Given the description of an element on the screen output the (x, y) to click on. 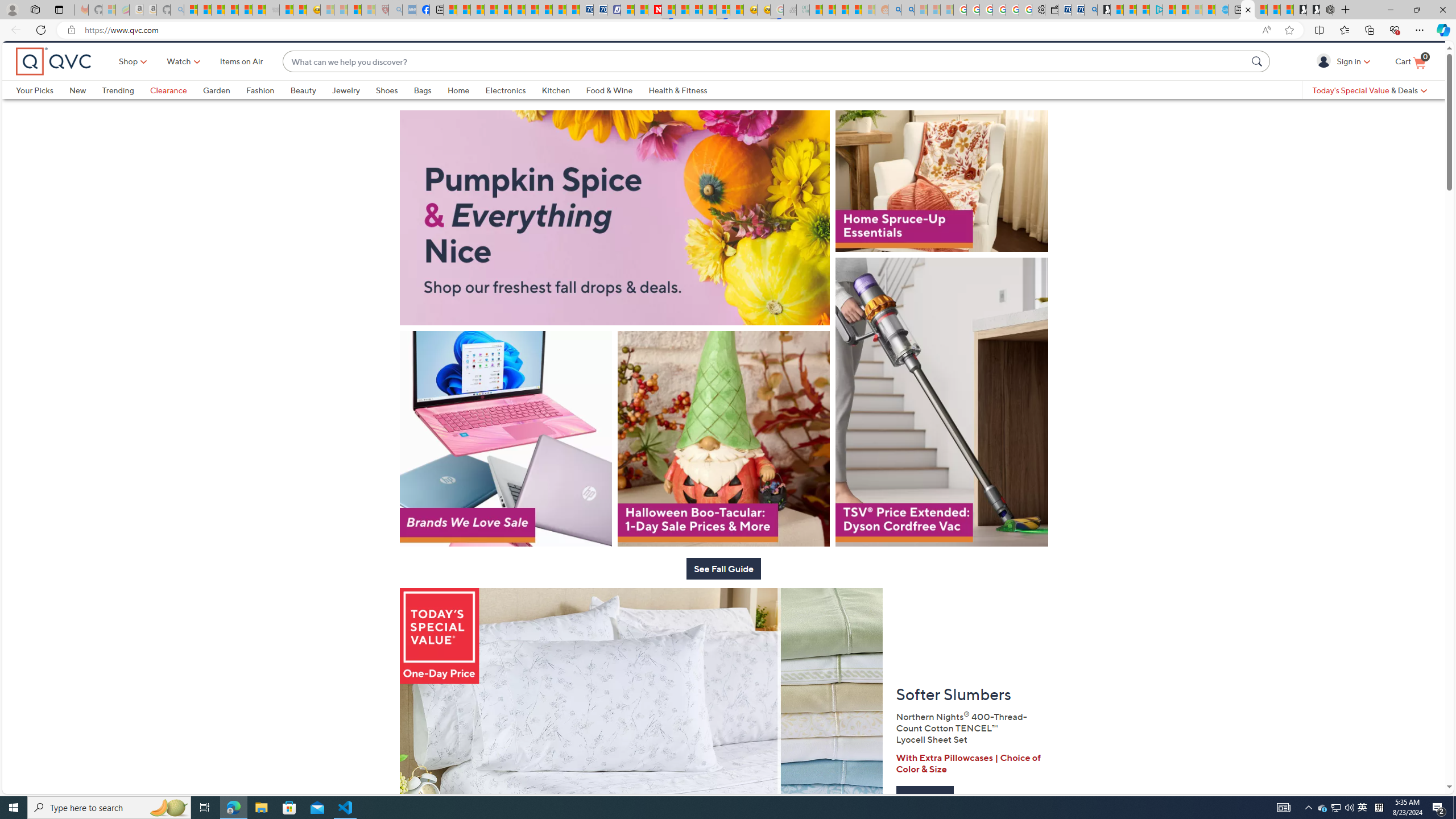
Beauty (302, 109)
Cheap Hotels - Save70.com (599, 9)
Cart is Empty  (1409, 81)
Jewelry (353, 109)
